Given the description of an element on the screen output the (x, y) to click on. 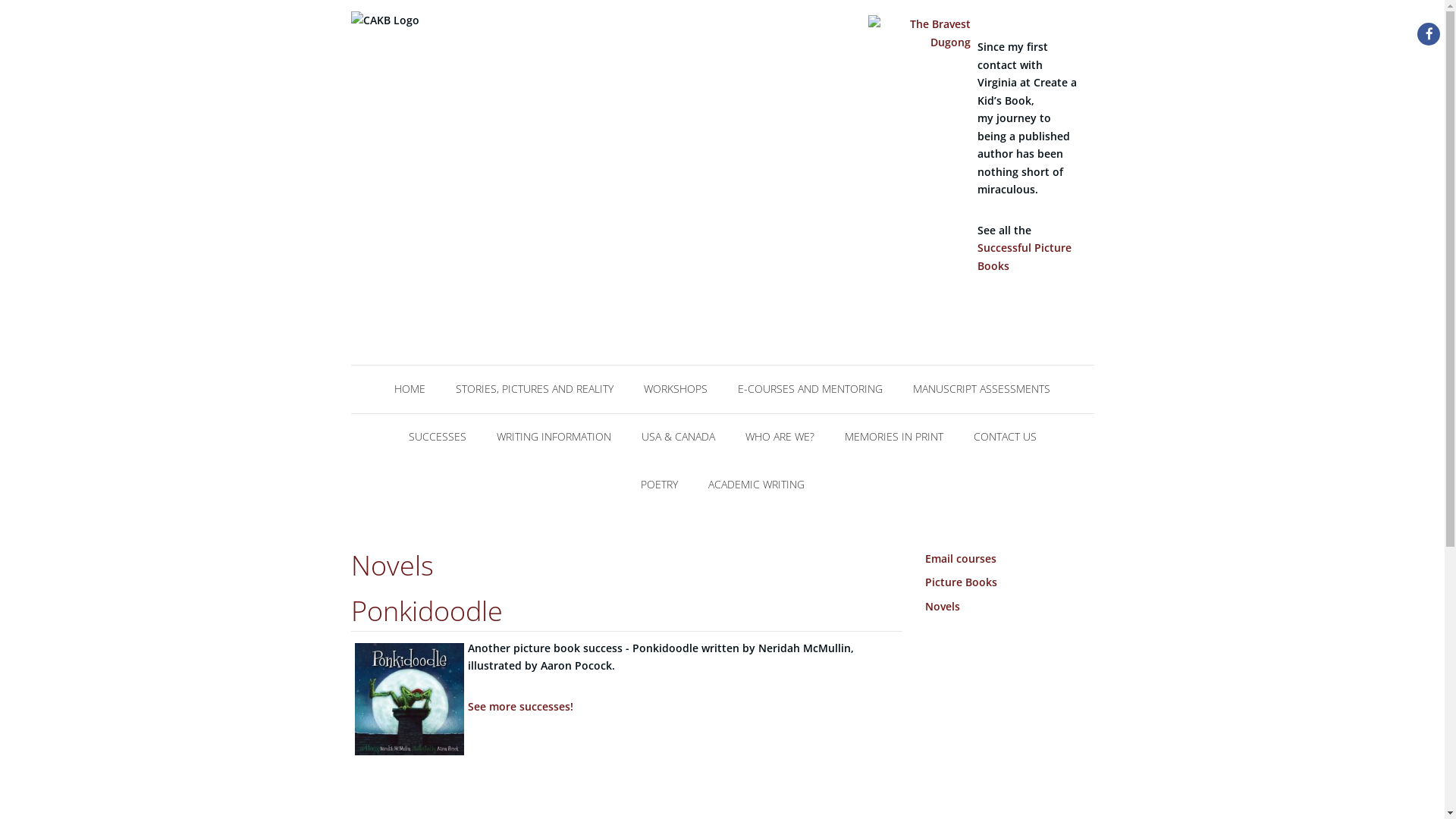
Picture Books Element type: text (961, 581)
USA & CANADA Element type: text (678, 434)
See more successes! Element type: text (519, 706)
STORIES, PICTURES AND REALITY Element type: text (534, 386)
WORKSHOPS Element type: text (675, 386)
Successful Picture Books Element type: text (1024, 256)
E-COURSES AND MENTORING Element type: text (809, 386)
Novels Element type: text (942, 606)
ACADEMIC WRITING Element type: text (756, 482)
The Bravest Dugong Element type: hover (919, 44)
MANUSCRIPT ASSESSMENTS Element type: text (981, 386)
CONTACT US Element type: text (1004, 434)
WHO ARE WE? Element type: text (778, 434)
Email courses Element type: text (960, 558)
SUCCESSES Element type: text (436, 434)
HOME Element type: text (409, 386)
POETRY Element type: text (658, 482)
WRITING INFORMATION Element type: text (552, 434)
MEMORIES IN PRINT Element type: text (893, 434)
